Given the description of an element on the screen output the (x, y) to click on. 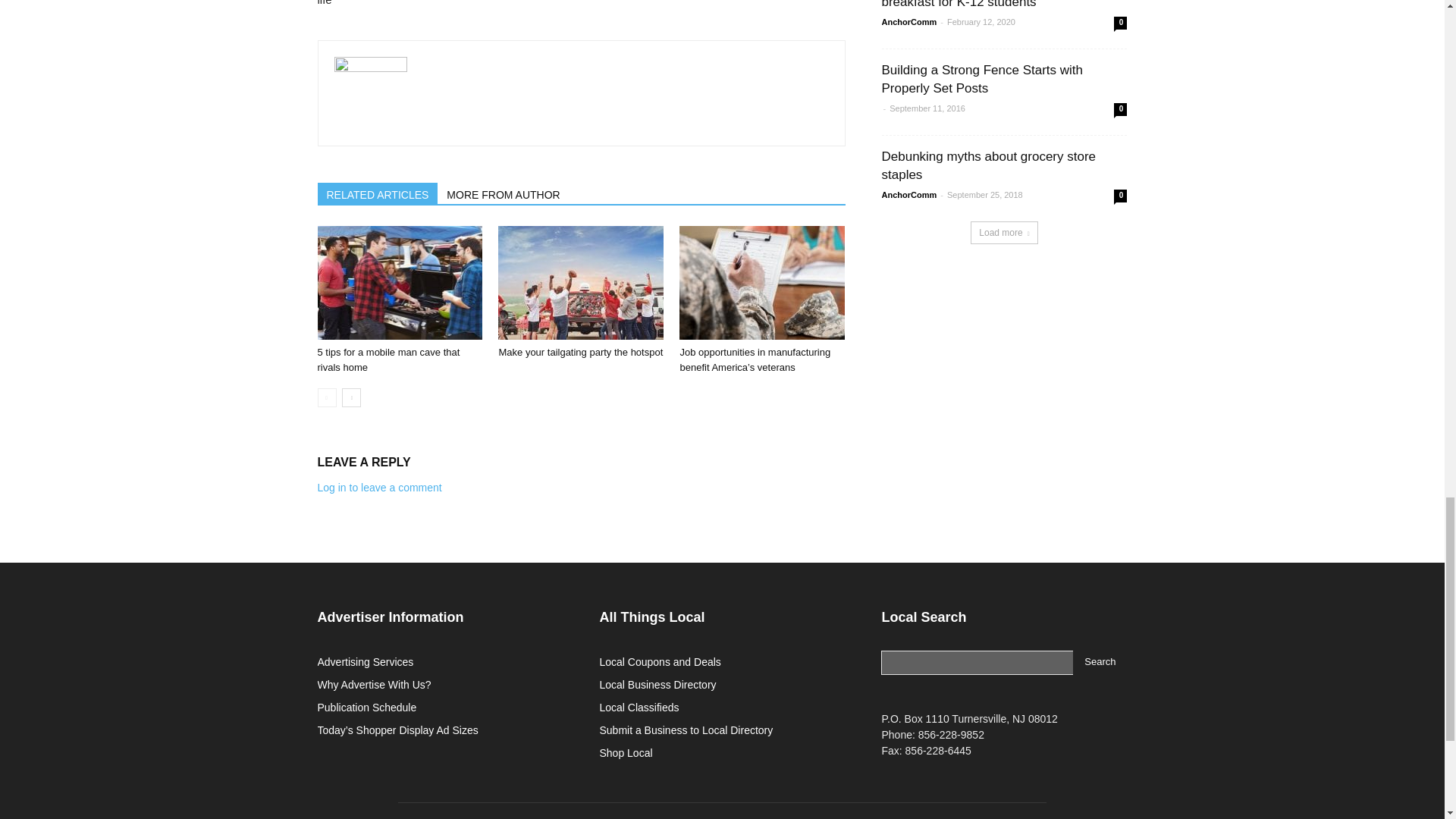
5 tips for a mobile man cave that rivals home (399, 282)
Search (1099, 662)
